Given the description of an element on the screen output the (x, y) to click on. 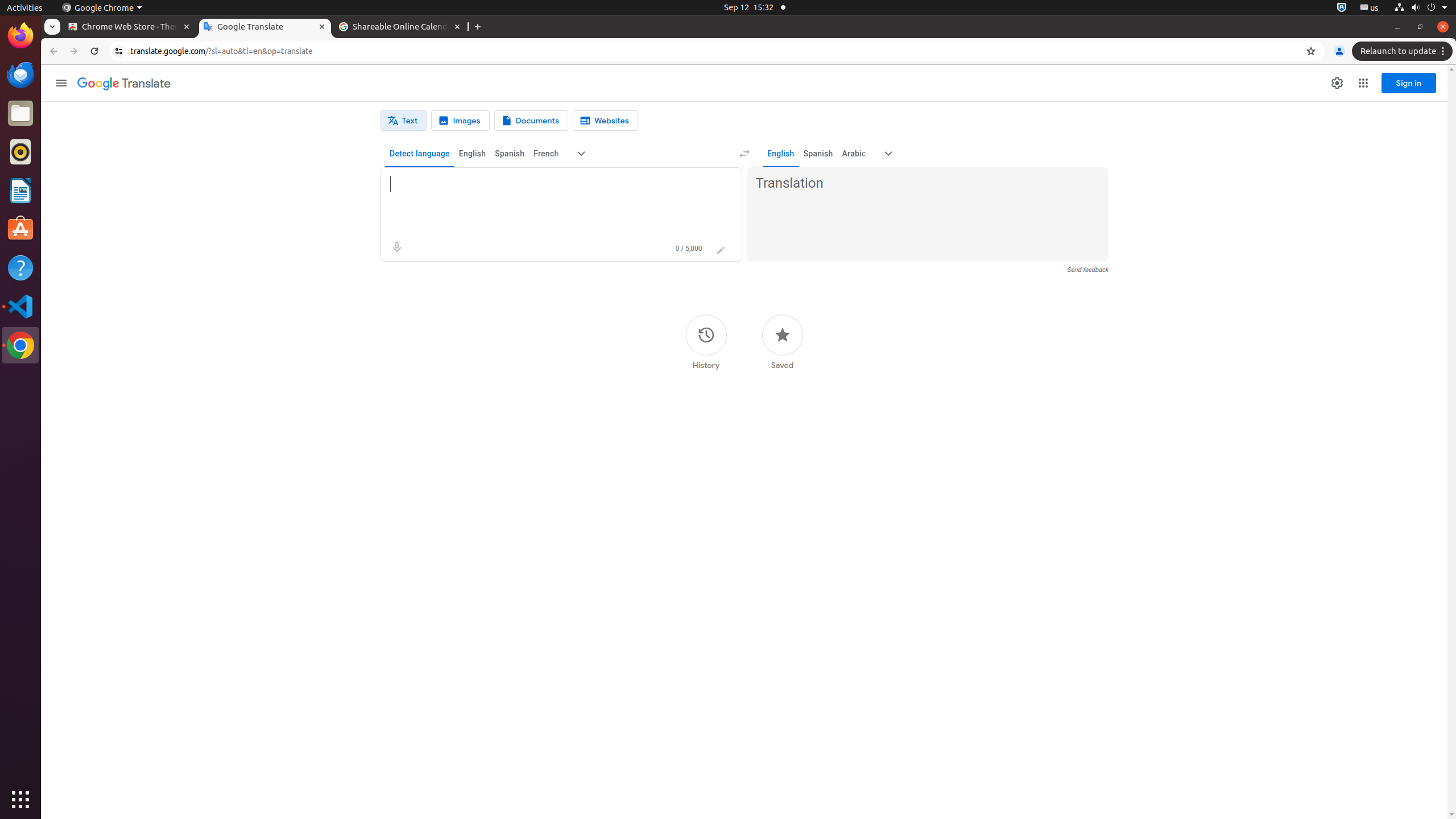
Website translation Element type: push-button (605, 120)
LibreOffice Writer Element type: push-button (20, 190)
More source languages Element type: push-button (581, 153)
Send feedback Element type: push-button (1087, 269)
Translate by voice Element type: push-button (396, 247)
